Given the description of an element on the screen output the (x, y) to click on. 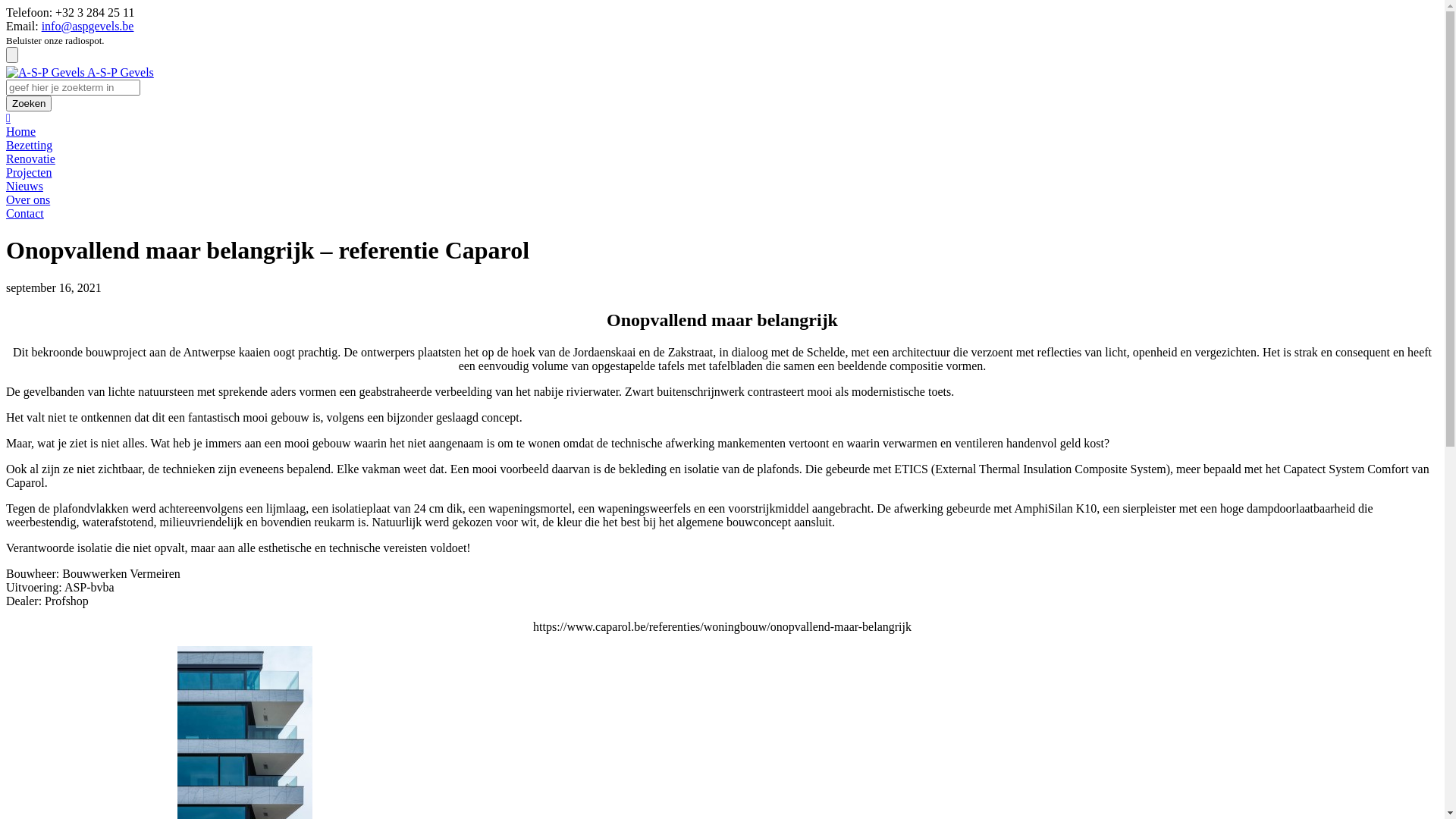
Contact Element type: text (24, 213)
Home Element type: text (20, 131)
Renovatie Element type: text (30, 158)
Over ons Element type: text (28, 199)
Projecten Element type: text (28, 172)
Zoeken Element type: text (28, 103)
A-S-P Gevels Element type: text (79, 71)
Nieuws Element type: text (24, 185)
Bezetting Element type: text (29, 144)
info@aspgevels.be Element type: text (87, 25)
